Given the description of an element on the screen output the (x, y) to click on. 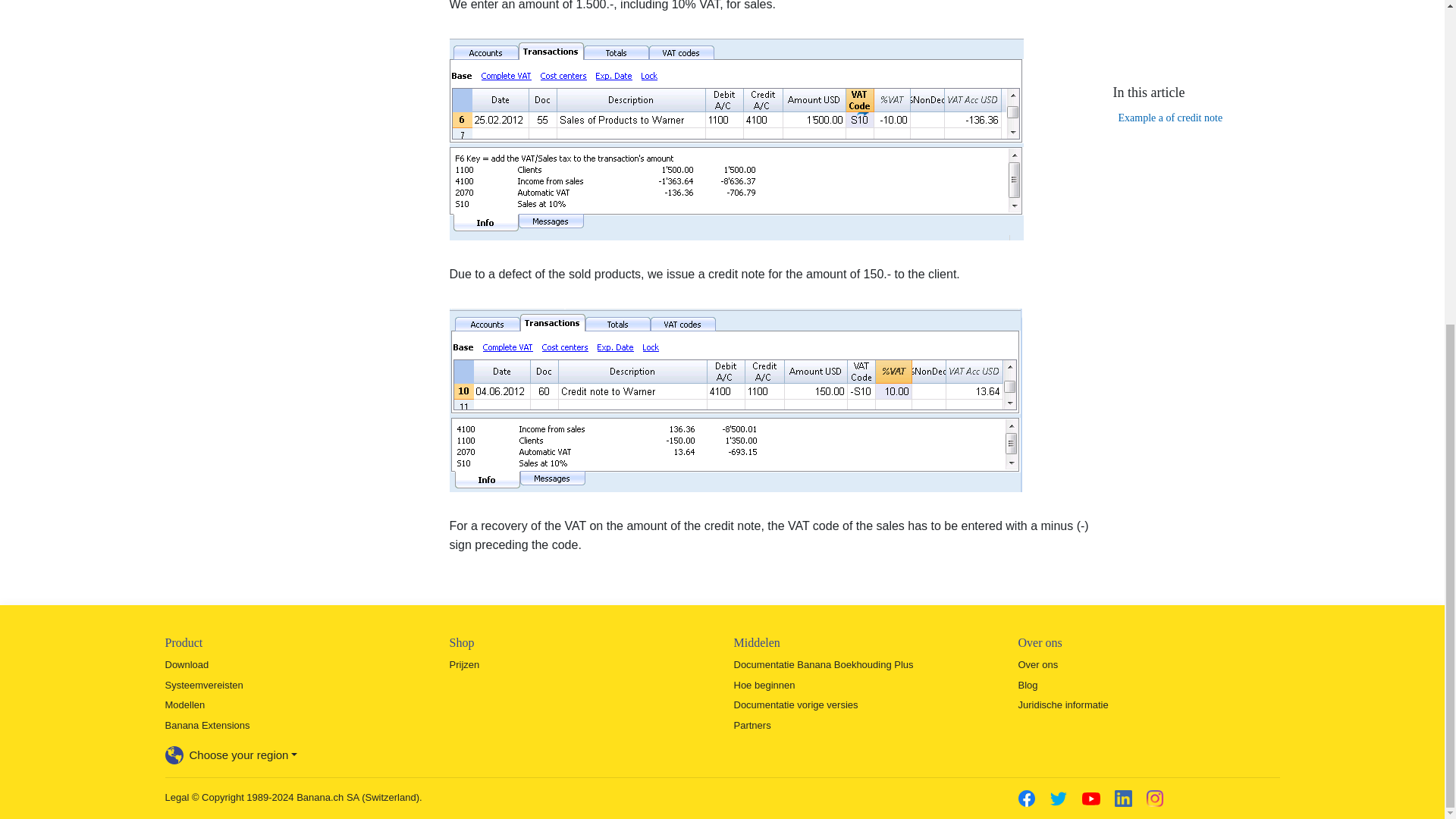
Systeemvereisten (204, 685)
Download (187, 664)
Modellen (185, 704)
